Given the description of an element on the screen output the (x, y) to click on. 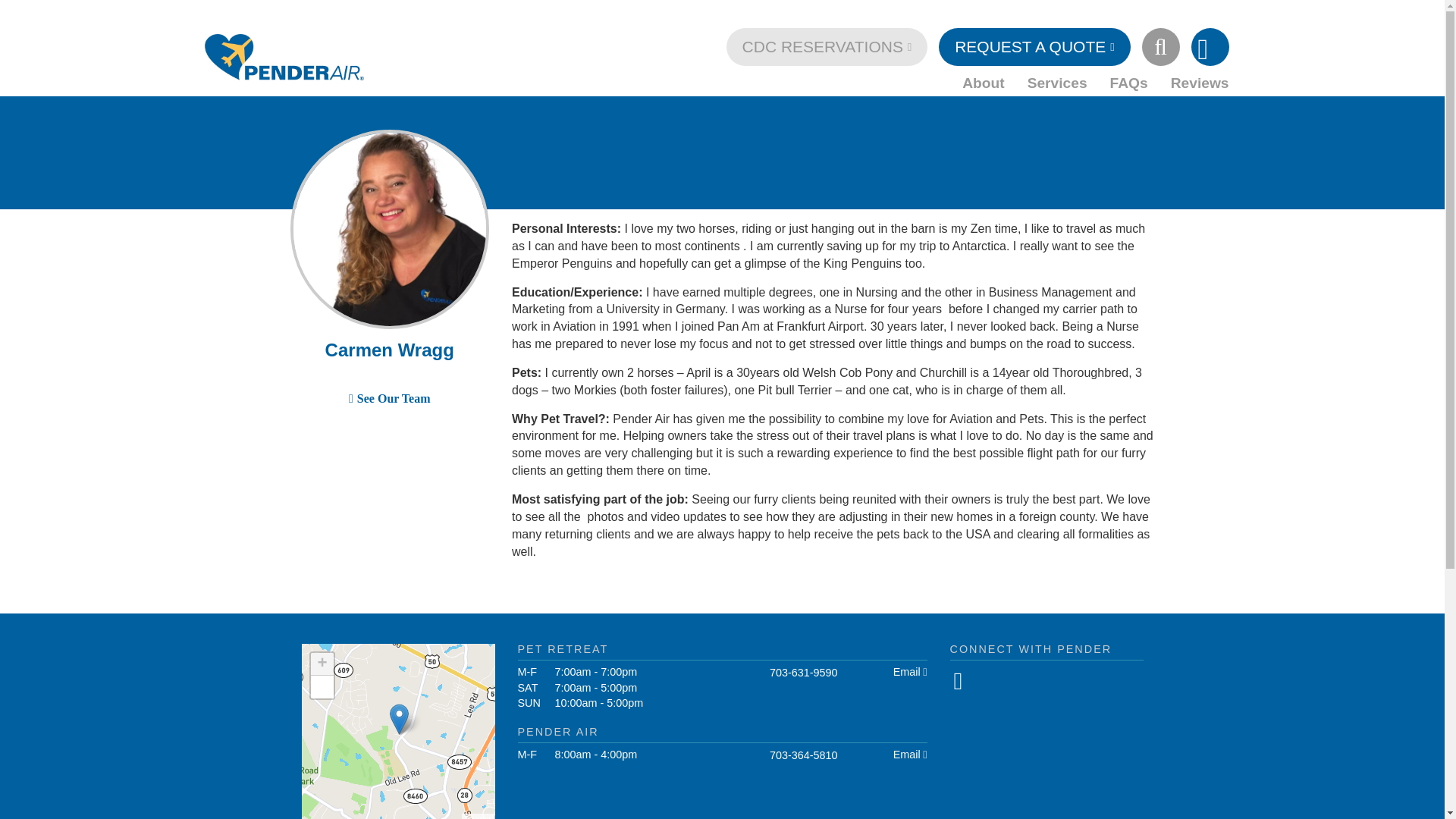
Email (906, 671)
REQUEST A QUOTE (1034, 46)
703-631-9590 (804, 672)
Reviews (1199, 78)
See Our Team (393, 398)
Email (906, 754)
703-631-9590 (1372, 95)
703-364-5810 (1372, 48)
703-364-5810 (804, 755)
Zoom out (322, 686)
